Given the description of an element on the screen output the (x, y) to click on. 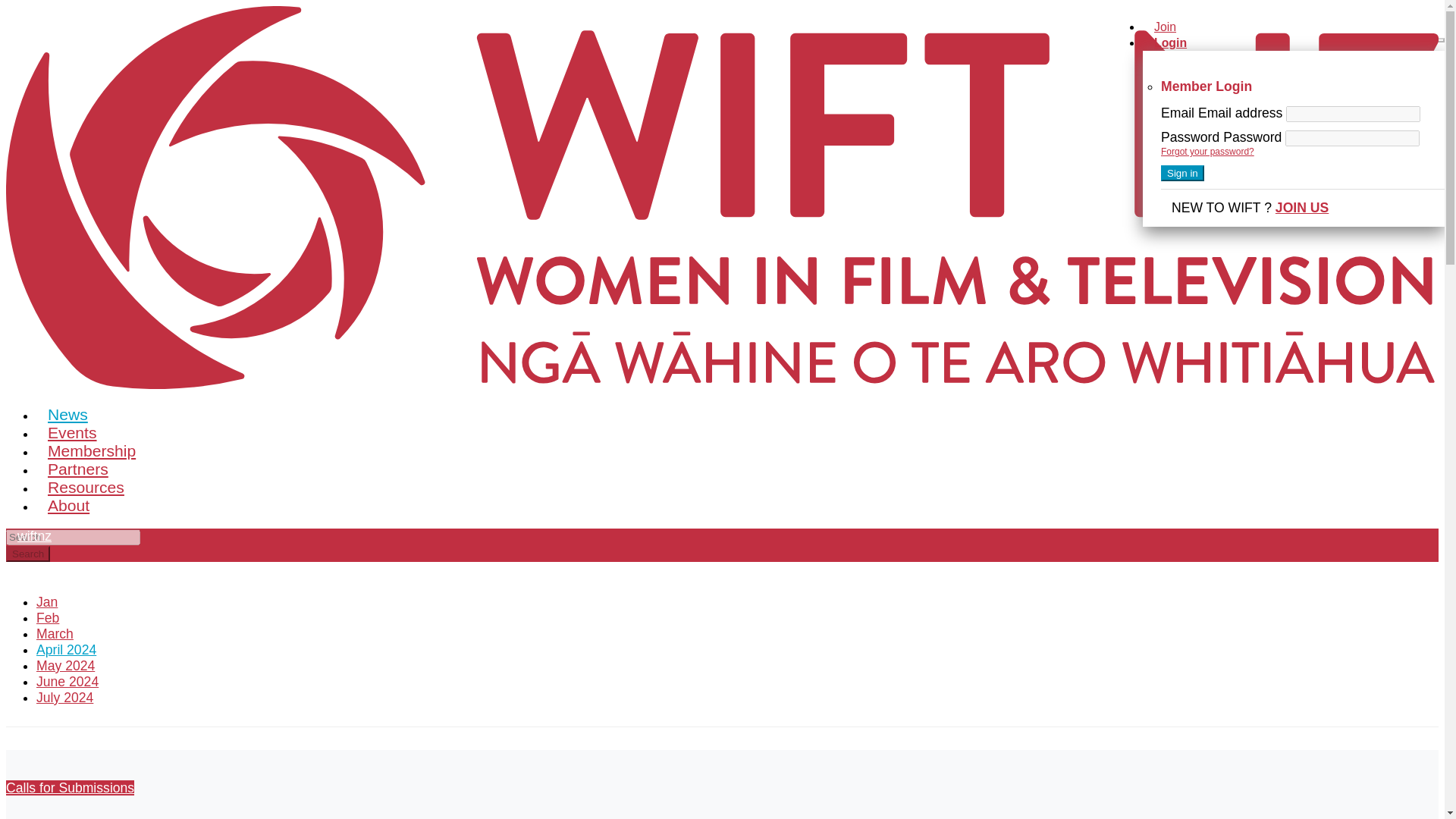
Jan (54, 601)
Forgot your password? (1206, 151)
JOIN US (1301, 207)
Login (1170, 42)
Calls for Submissions (69, 787)
wiftnz (33, 536)
April 2024 (74, 649)
Resources (85, 487)
About (68, 505)
Join (1165, 26)
July 2024 (71, 697)
Membership (91, 450)
Partners (77, 468)
May 2024 (73, 665)
Feb (55, 617)
